Given the description of an element on the screen output the (x, y) to click on. 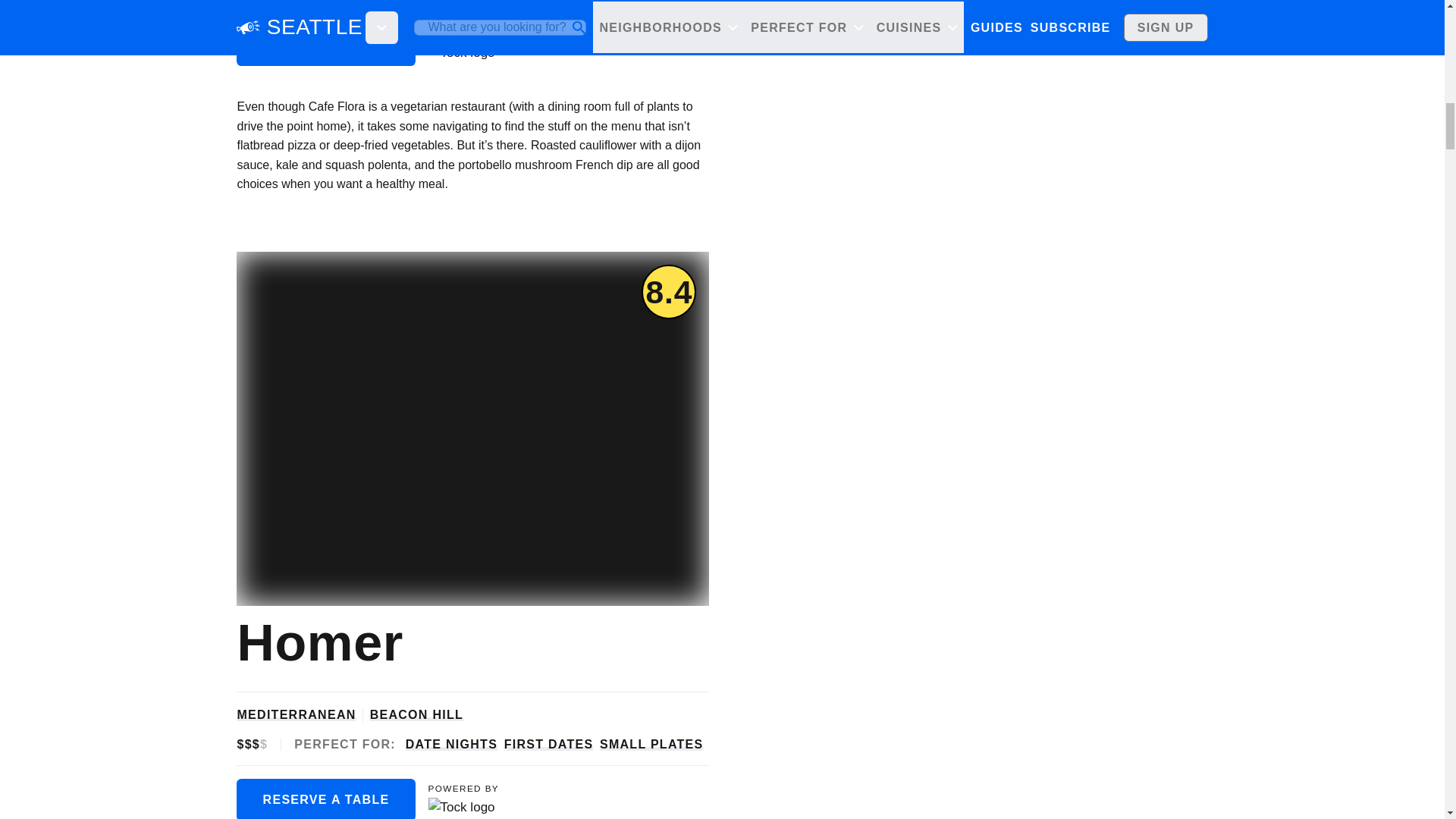
BEACON HILL (416, 714)
DATE NIGHTS (451, 744)
RESERVE A TABLE (324, 44)
SMALL PLATES (651, 744)
RESERVE A TABLE (324, 798)
Homer (316, 642)
MEDITERRANEAN (295, 714)
FIRST DATES (548, 744)
